Given the description of an element on the screen output the (x, y) to click on. 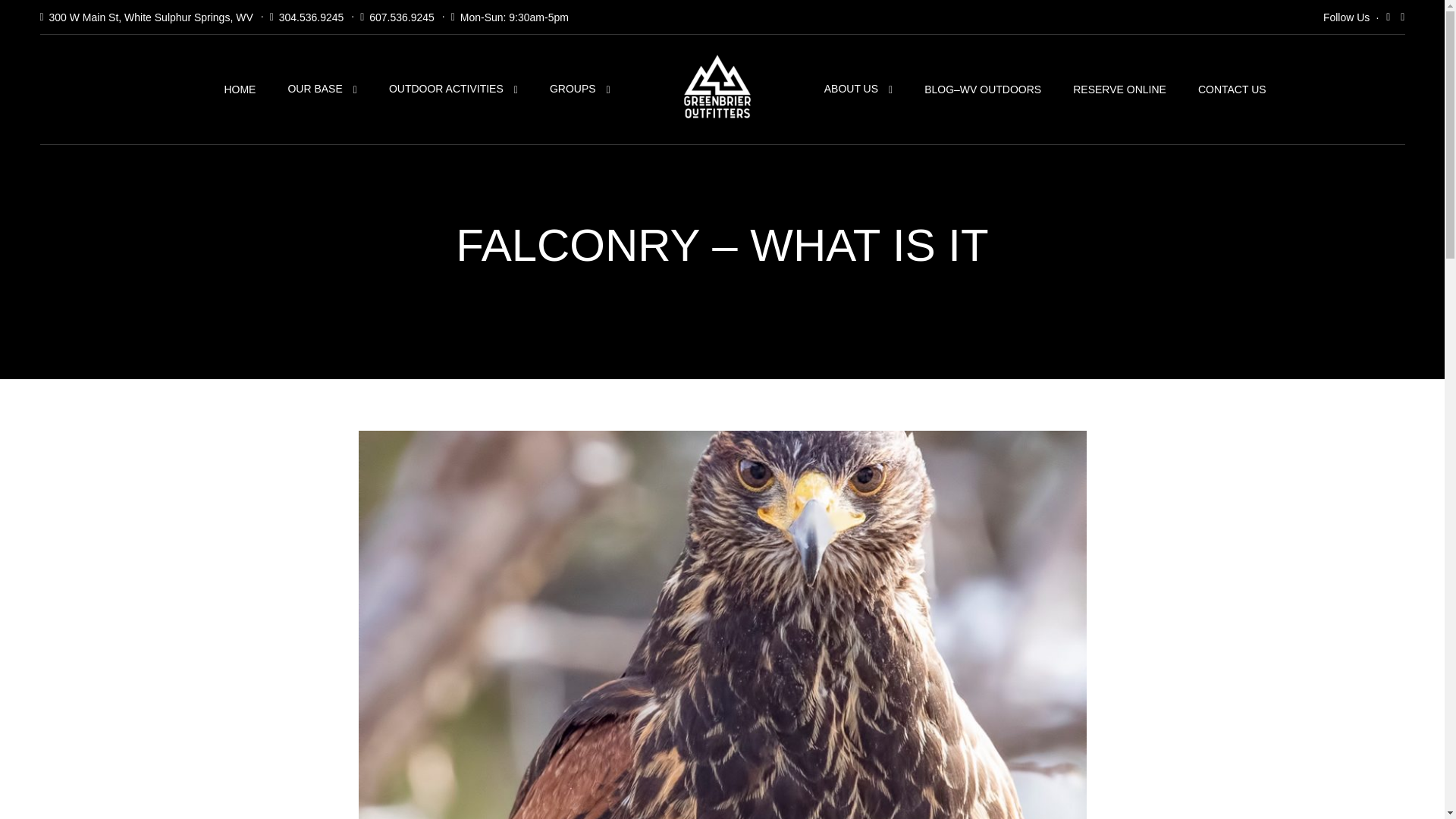
607.536.9245 (401, 17)
OUTDOOR ACTIVITIES (453, 89)
HOME (239, 88)
CONTACT US (1232, 88)
OUR BASE (321, 89)
GROUPS (580, 89)
304.536.9245 (311, 17)
ABOUT US (858, 89)
RESERVE ONLINE (1119, 88)
